Given the description of an element on the screen output the (x, y) to click on. 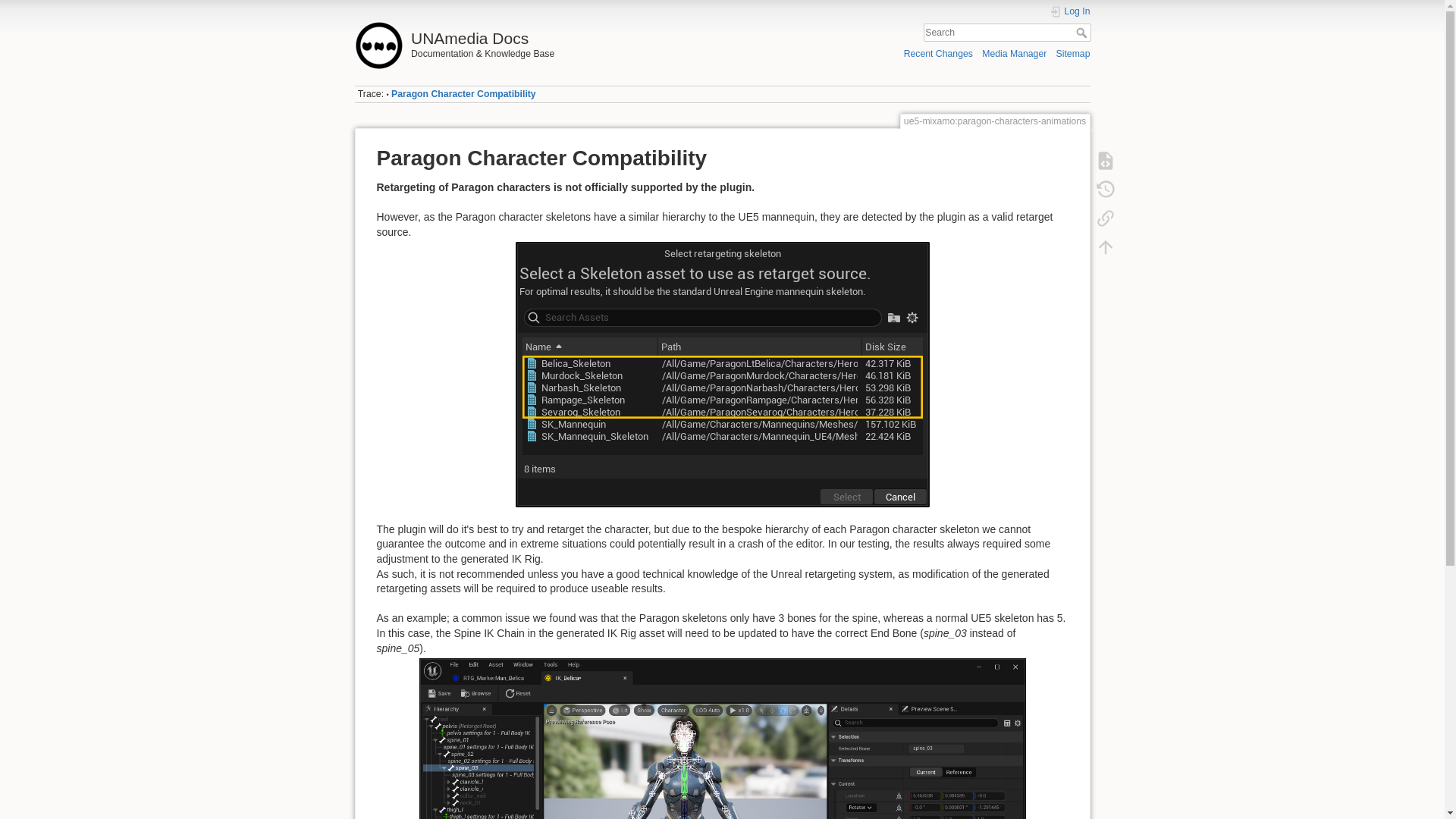
UNAmedia Docs (534, 34)
Search (1082, 32)
ue5-mixamo:paragon-characters-animations (463, 93)
ue5-mixamo:paragon-belica-ikrig.jpg (721, 738)
Paragon skeletons showing up as a valid retarget source (722, 373)
Media Manager (1013, 53)
Log In (1069, 11)
Recent Changes (938, 53)
Media Manager (1013, 53)
Search (1082, 32)
Paragon Character Compatibility (463, 93)
Sitemap (1073, 53)
Log In (1069, 11)
The IK Rig generated for the Belica character (722, 738)
